Given the description of an element on the screen output the (x, y) to click on. 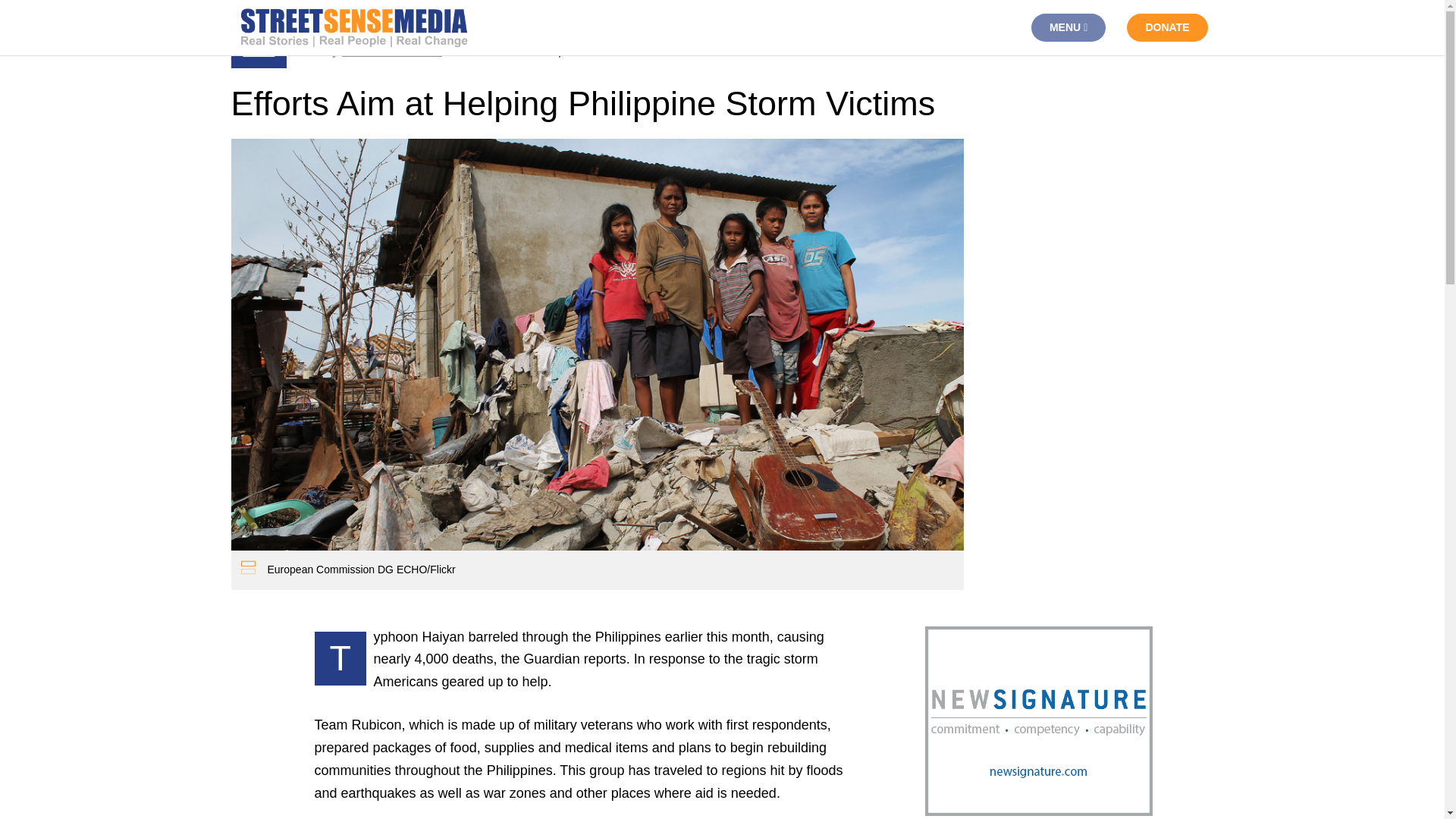
MENU (1067, 27)
Ramanda Lazaris (392, 51)
DONATE (1166, 27)
News (259, 51)
